Given the description of an element on the screen output the (x, y) to click on. 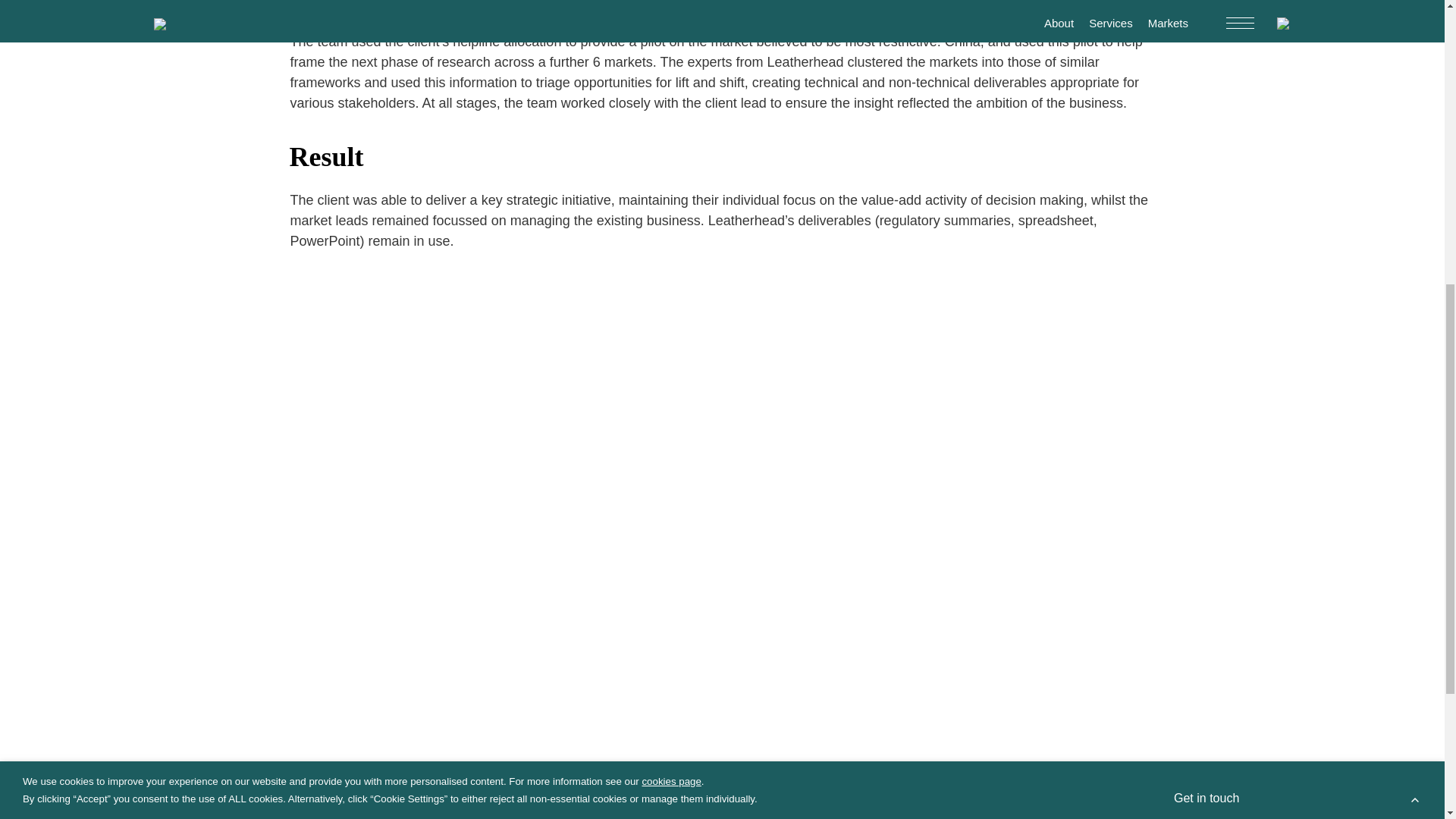
London, UK (1121, 87)
About (307, 83)
Frontier Smart Technologies (359, 153)
TP Group (470, 153)
Great Burgh, UK (1033, 87)
CMS2 (529, 153)
Services (363, 83)
Leatherhead Food Research (361, 138)
Markets (423, 83)
TSG Consulting (487, 138)
